Given the description of an element on the screen output the (x, y) to click on. 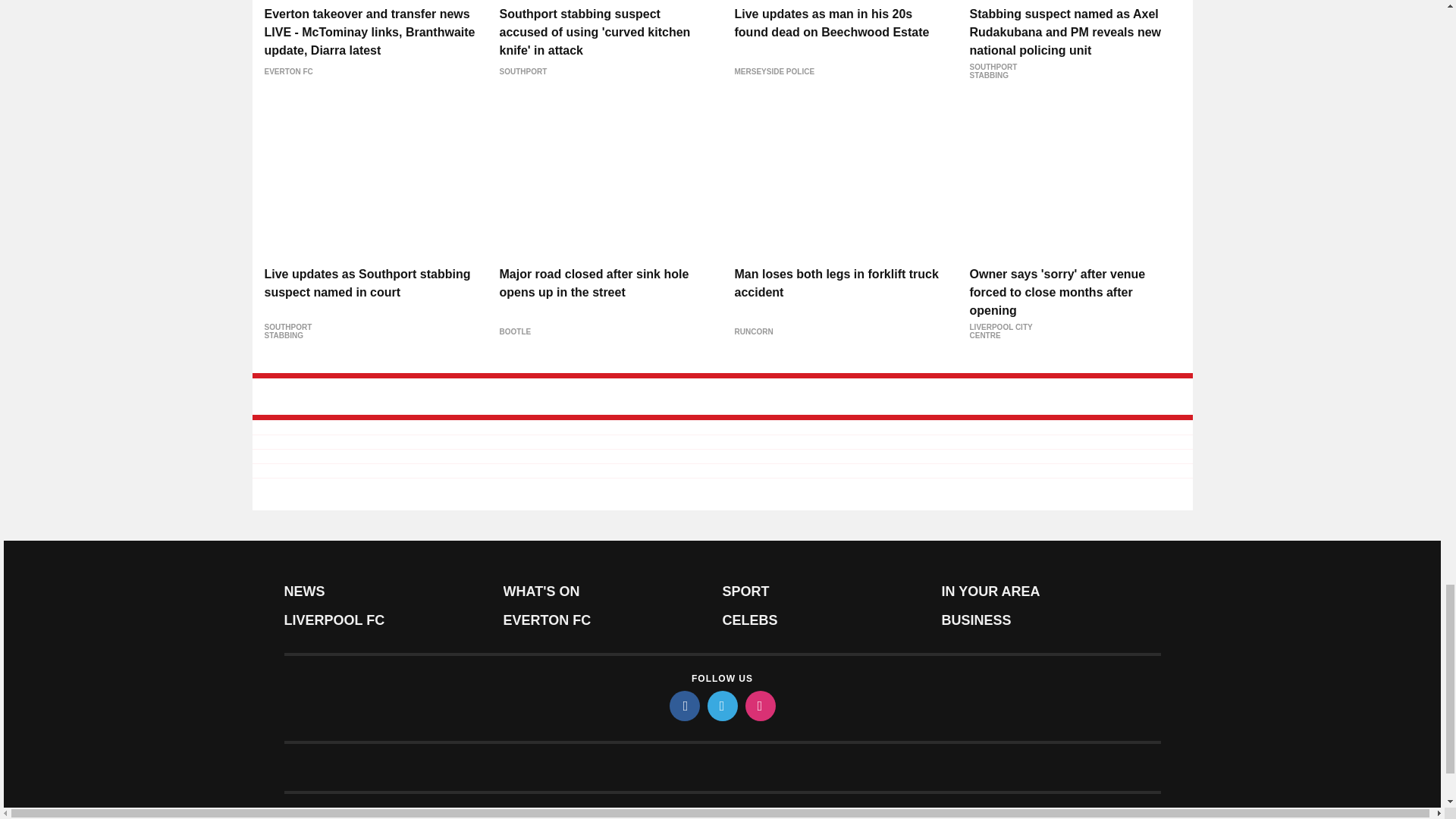
twitter (721, 706)
facebook (683, 706)
instagram (759, 706)
